Given the description of an element on the screen output the (x, y) to click on. 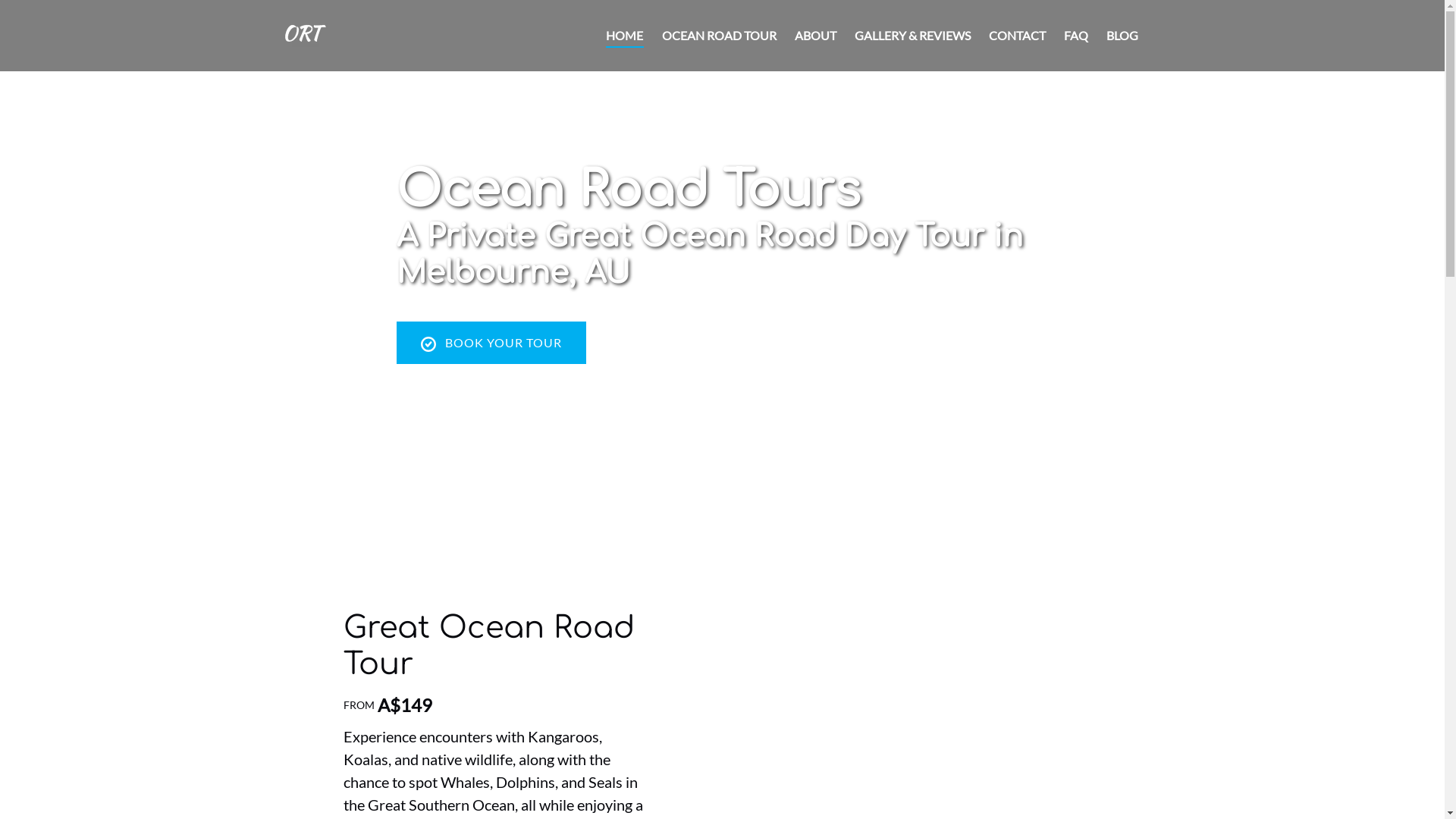
CHECKMARK BOOK YOUR TOUR Element type: text (490, 299)
BLOG Element type: text (1121, 35)
GALLERY & REVIEWS Element type: text (911, 35)
HOME Element type: text (624, 35)
Skip to content Element type: text (46, 16)
Skip to footer Element type: text (42, 16)
CONTACT Element type: text (1016, 35)
Skip to primary navigation Element type: text (75, 16)
OCEAN ROAD TOUR Element type: text (718, 35)
FAQ Element type: text (1075, 35)
ABOUT Element type: text (815, 35)
Great Ocean Road Tour Element type: text (487, 645)
